Given the description of an element on the screen output the (x, y) to click on. 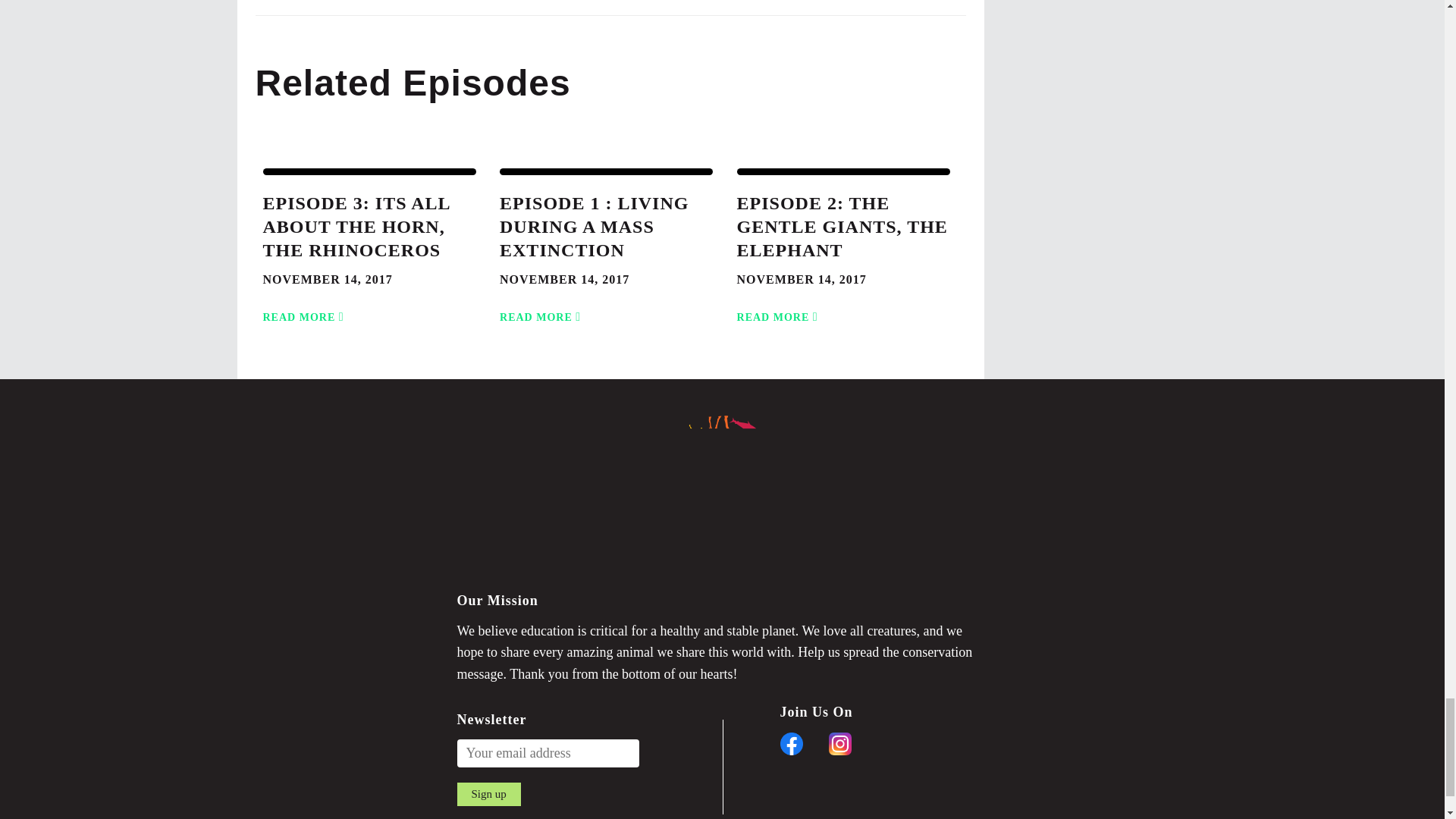
Sign up (488, 793)
READ MORE (305, 308)
Sign up (488, 793)
READ MORE (542, 308)
READ MORE (780, 308)
All Creatures Podcast (722, 497)
